Given the description of an element on the screen output the (x, y) to click on. 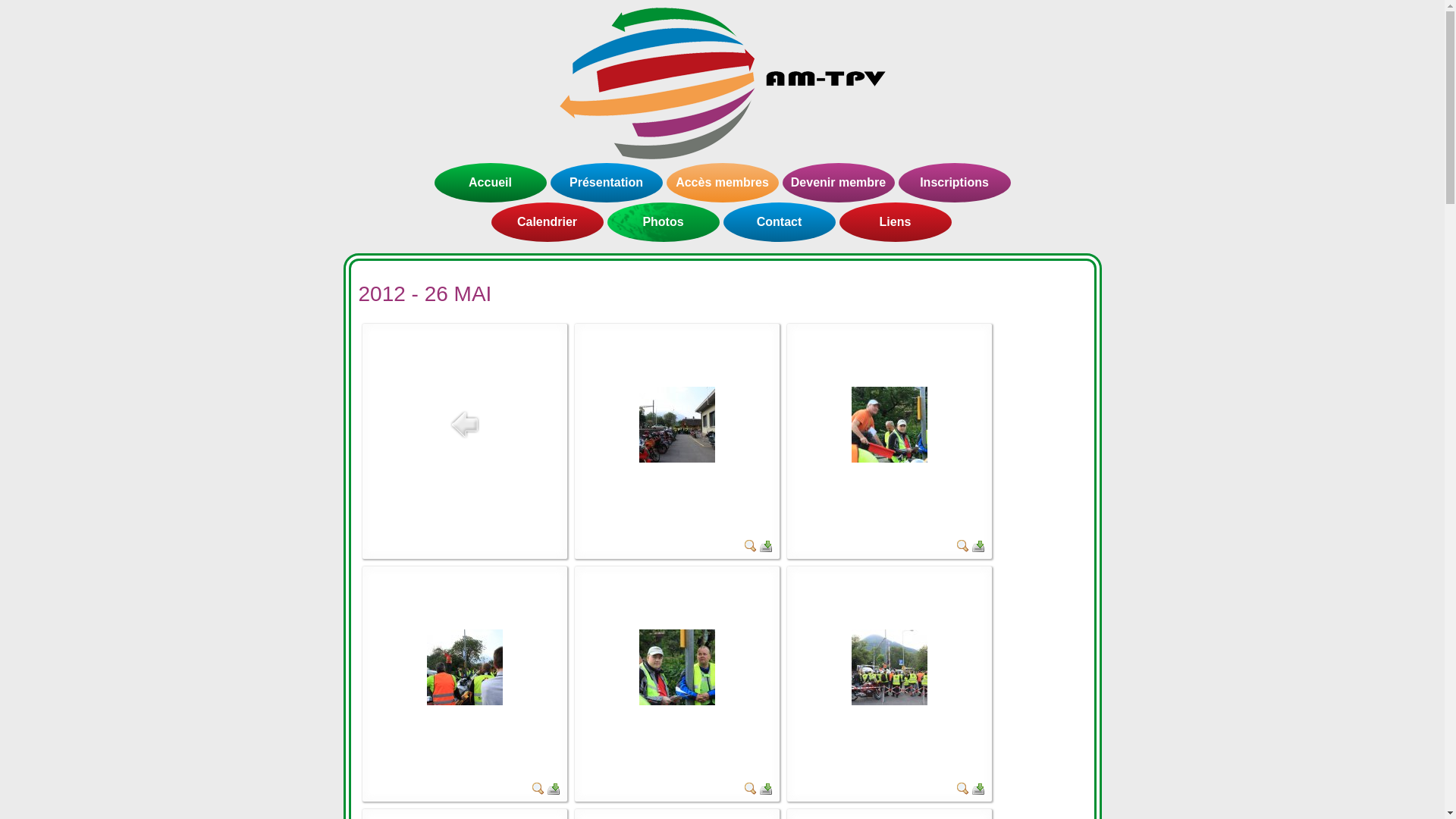
Devenir membre Element type: text (838, 182)
Photos Element type: text (662, 221)
Calendrier Element type: text (547, 221)
Accueil Element type: text (489, 182)
Liens Element type: text (894, 221)
Inscriptions Element type: text (953, 182)
Contact Element type: text (779, 221)
